Given the description of an element on the screen output the (x, y) to click on. 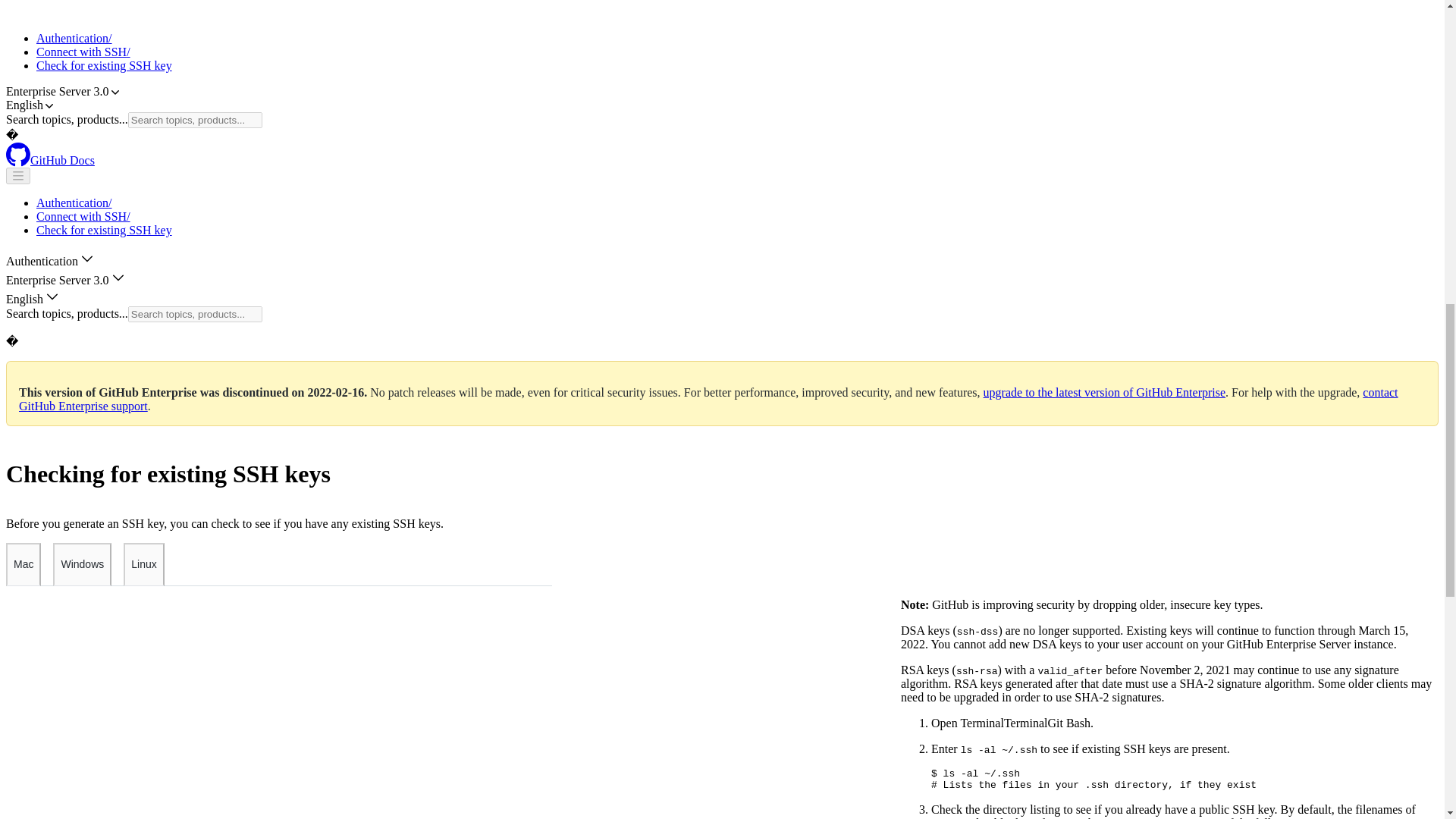
Authentication (74, 202)
Authentication (74, 38)
Connect with SSH (83, 51)
Check for existing SSH key (103, 229)
Check for existing SSH key (103, 65)
Connect with SSH (83, 215)
2022-02-16 (336, 391)
